Given the description of an element on the screen output the (x, y) to click on. 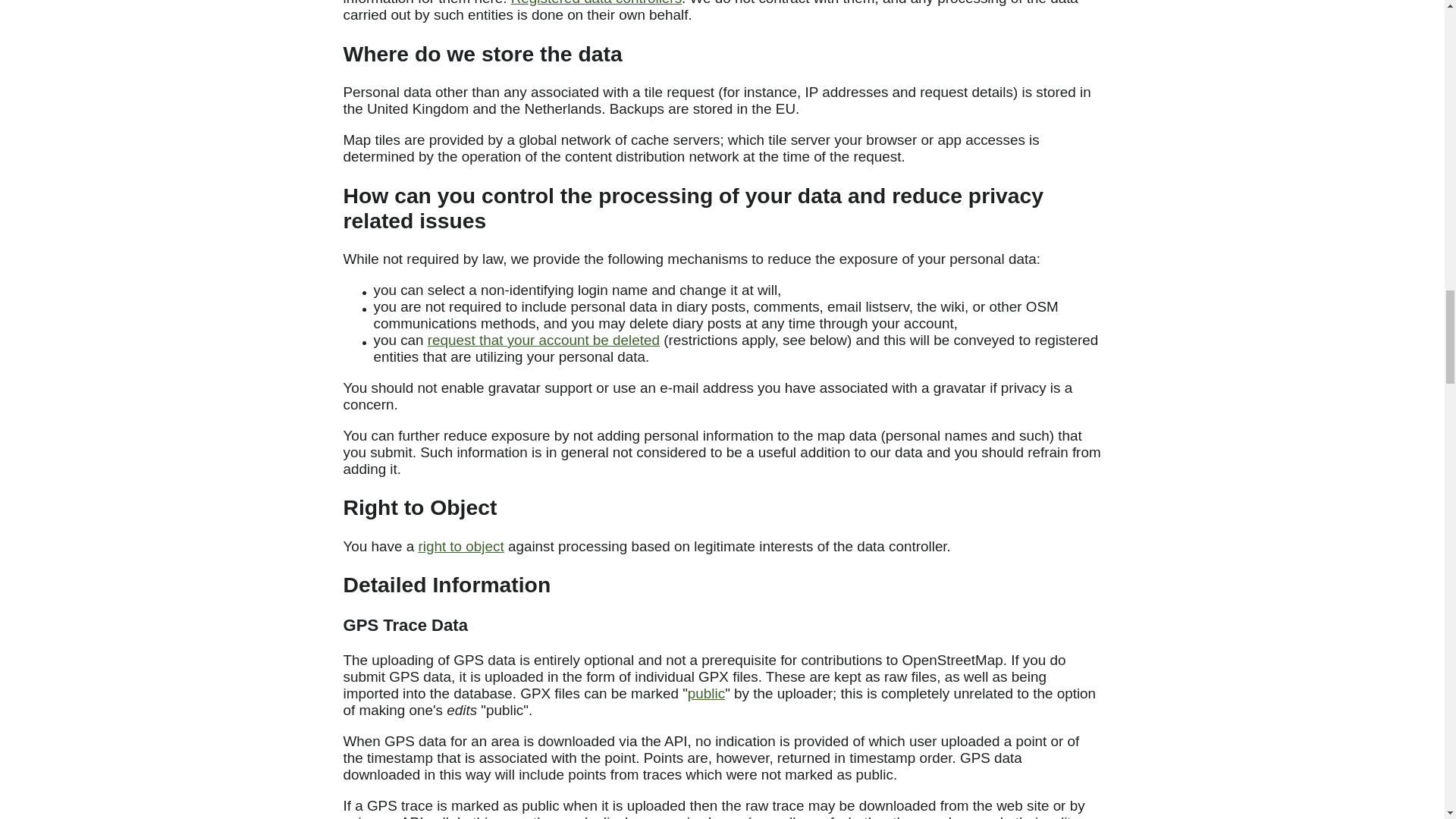
Registered data controllers (596, 2)
